Given the description of an element on the screen output the (x, y) to click on. 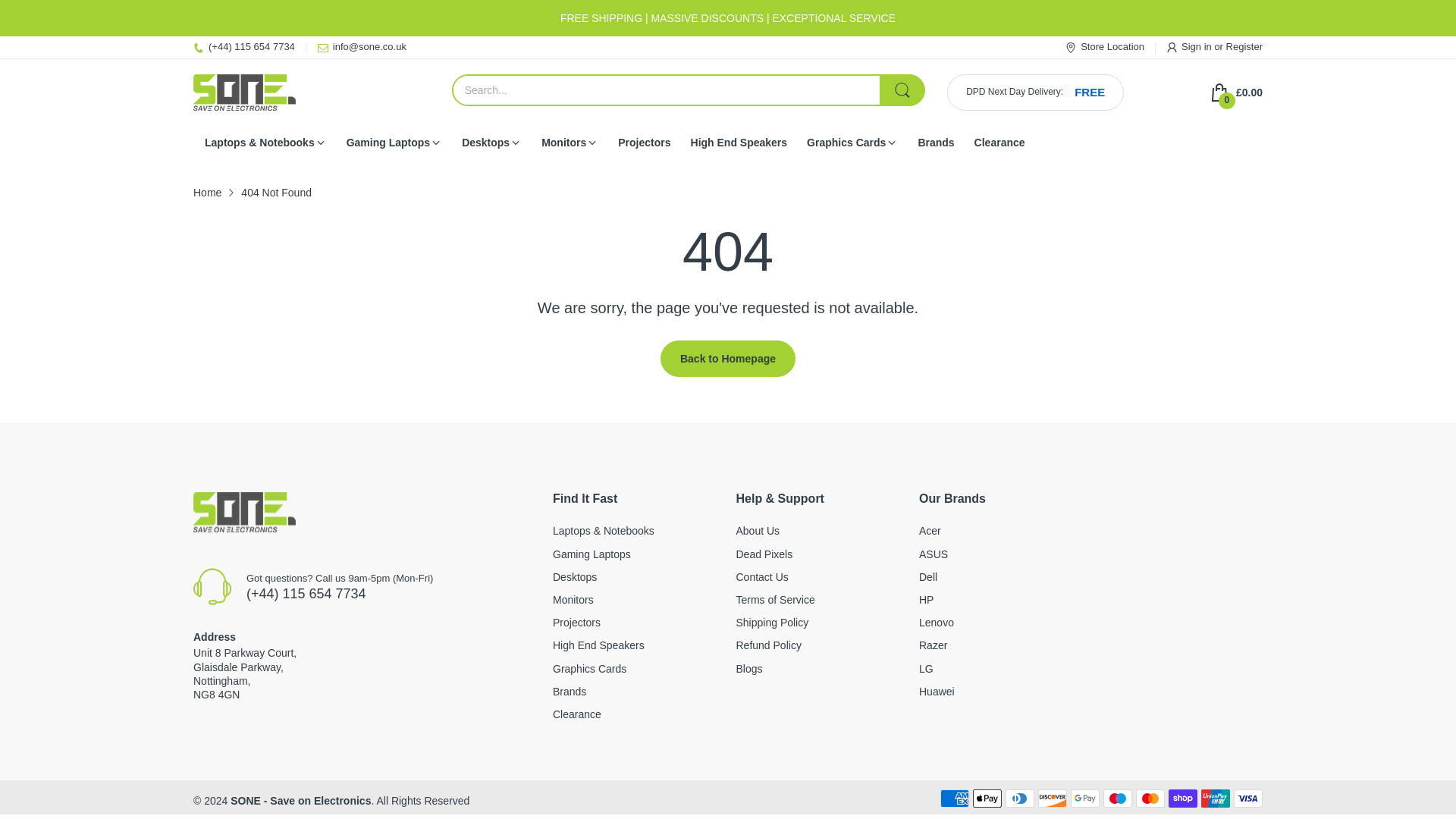
Back to Homepage (727, 358)
Graphics Cards (845, 142)
Clearance (999, 142)
Desktops (574, 576)
Contact Us (761, 576)
Terms of Service (774, 599)
Projectors (643, 142)
Dead Pixels (763, 553)
High End Speakers (738, 142)
Store Location (1104, 47)
